Given the description of an element on the screen output the (x, y) to click on. 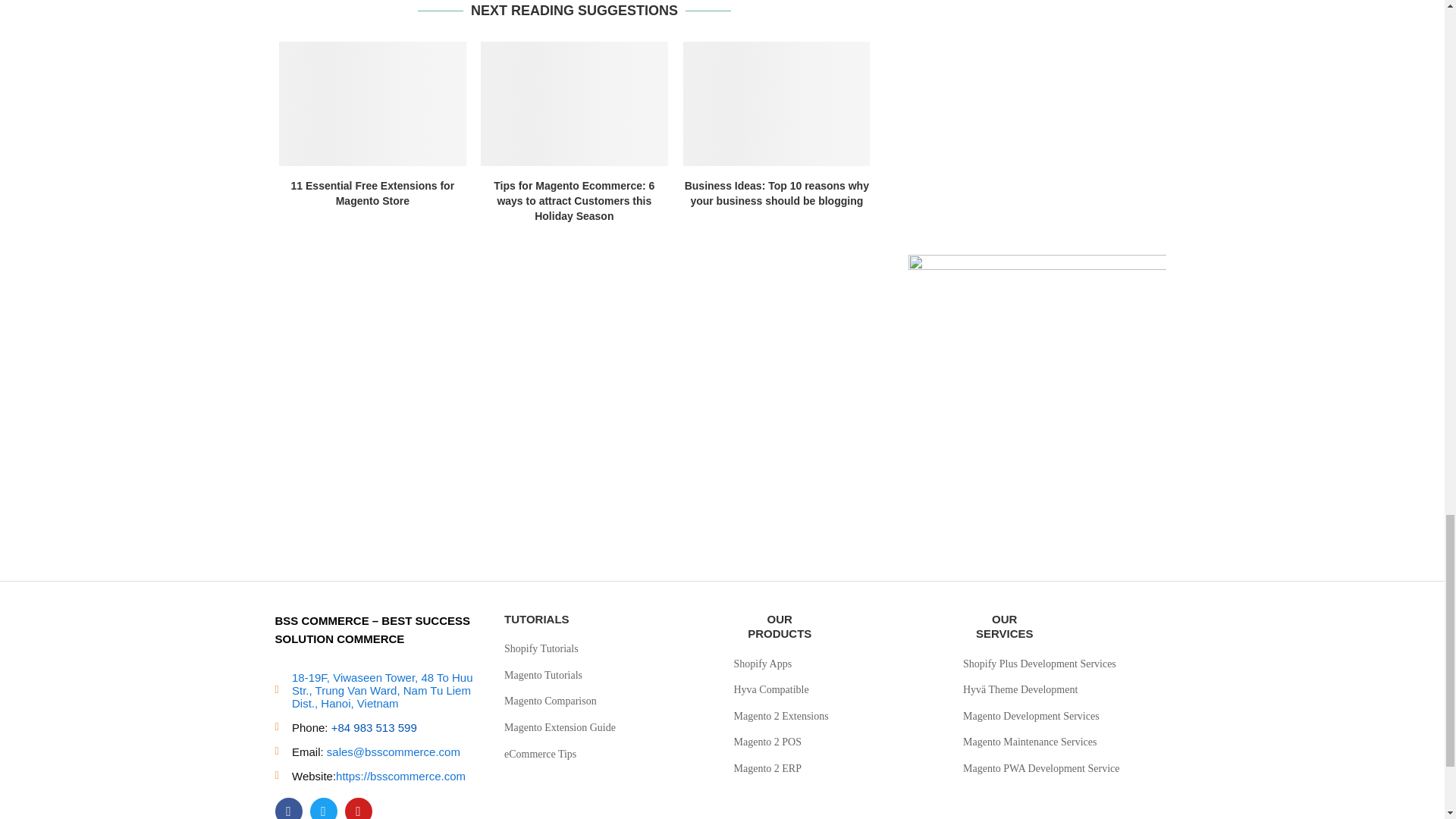
11 Essential Free Extensions for Magento Store (371, 194)
11 Essential Free Extensions for Magento Store (372, 103)
